Given the description of an element on the screen output the (x, y) to click on. 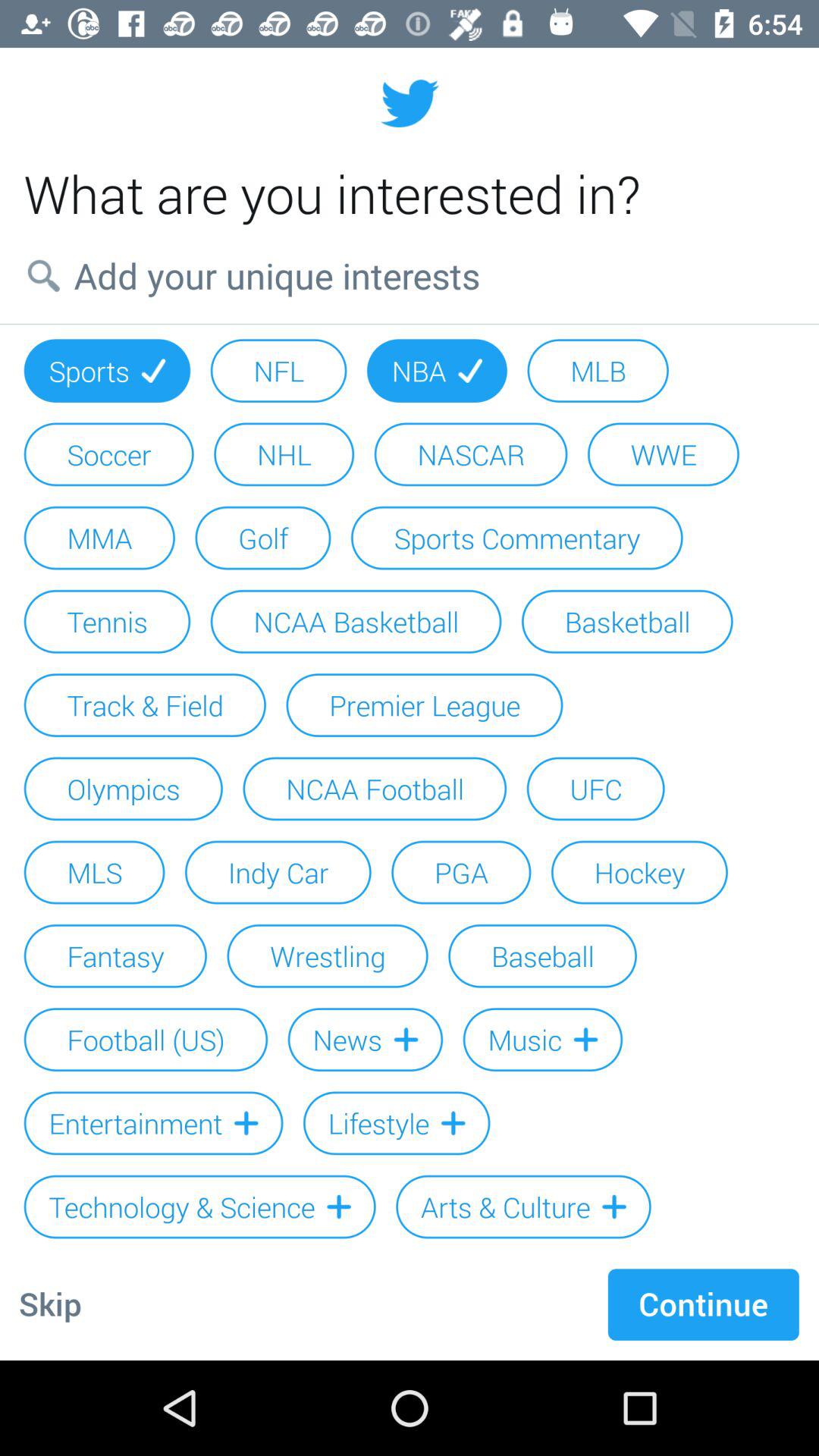
turn on the icon above the mls item (122, 788)
